Given the description of an element on the screen output the (x, y) to click on. 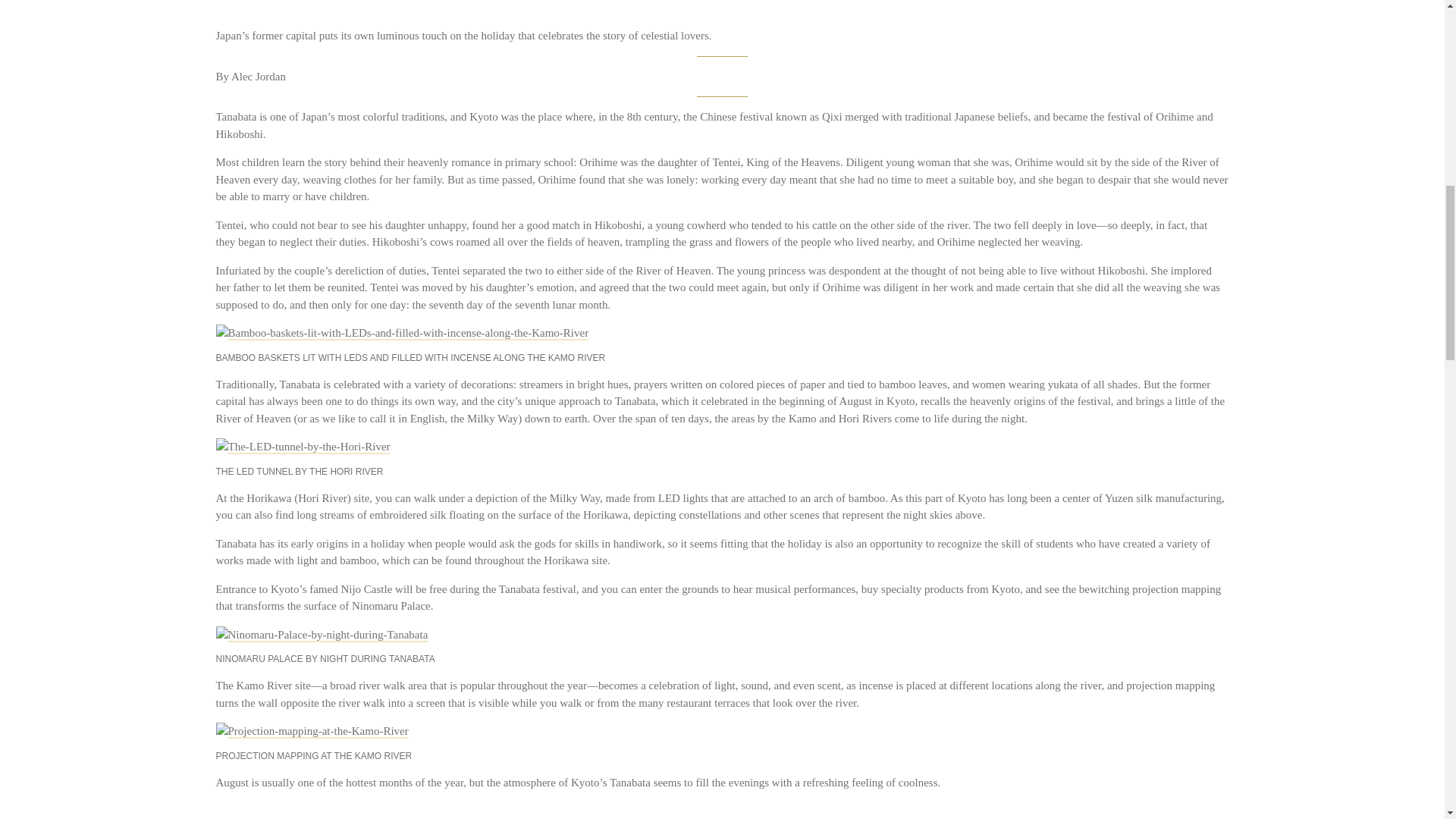
Bamboo baskets lit with LEDs (401, 333)
Ninomaru Palace by night during Tanabata (321, 634)
The LED tunnel by the Hori River (302, 446)
Projection mapping at the Kamo River (311, 731)
